Given the description of an element on the screen output the (x, y) to click on. 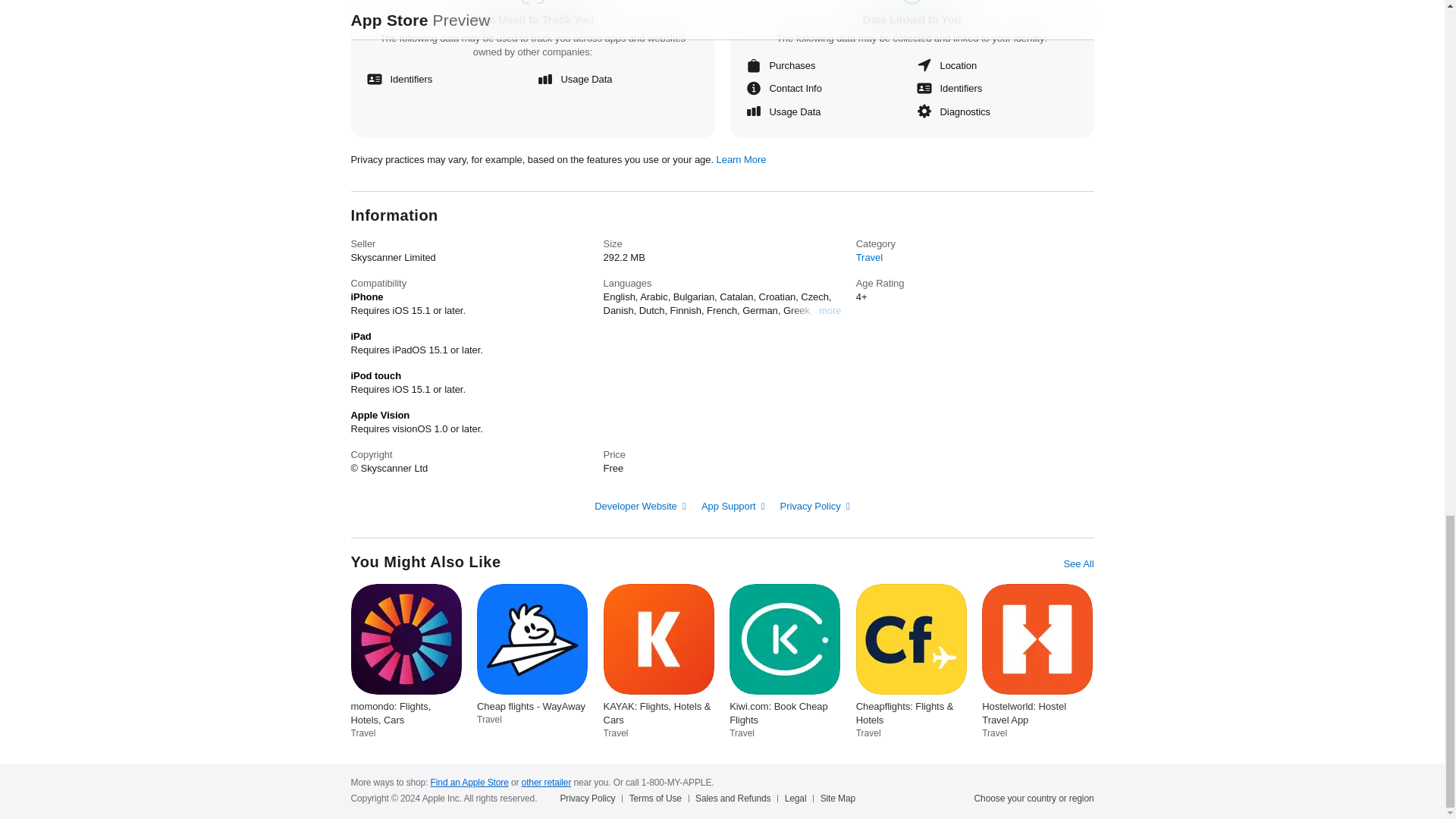
Choose your country or region (1034, 797)
